Given the description of an element on the screen output the (x, y) to click on. 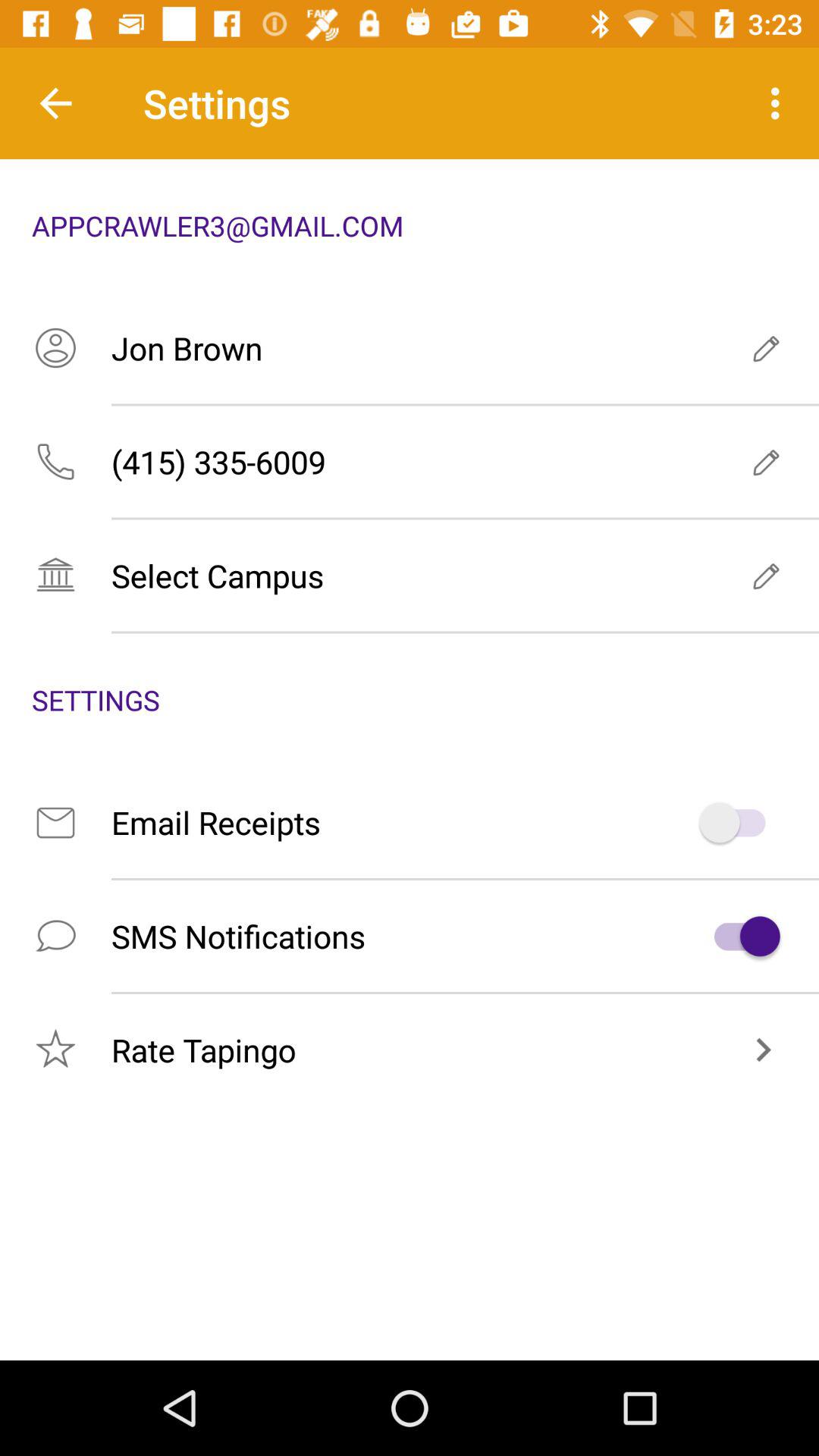
press the icon above select campus icon (409, 461)
